Given the description of an element on the screen output the (x, y) to click on. 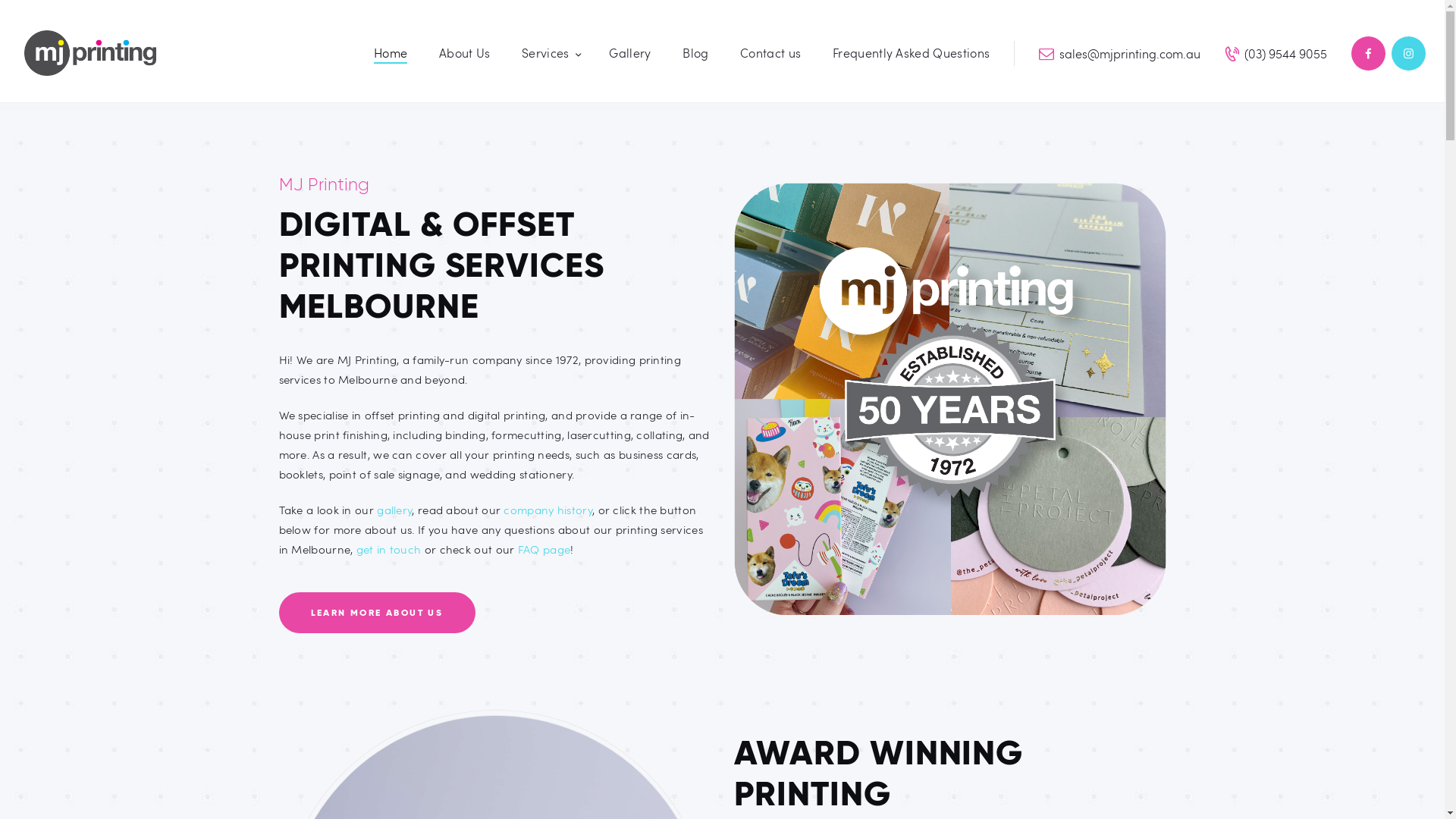
Services Element type: text (549, 52)
company history Element type: text (547, 509)
Blog Element type: text (695, 52)
Frequently Asked Questions Element type: text (910, 52)
Gallery Element type: text (630, 52)
hero-image2 Element type: hover (950, 398)
sales@mjprinting.com.au Element type: text (1118, 53)
(03) 9544 9055 Element type: text (1275, 53)
Home Element type: text (390, 52)
FAQ page Element type: text (543, 548)
LEARN MORE ABOUT US Element type: text (377, 612)
Contact us Element type: text (770, 52)
gallery Element type: text (393, 509)
About Us Element type: text (464, 52)
get in touch Element type: text (388, 548)
